Given the description of an element on the screen output the (x, y) to click on. 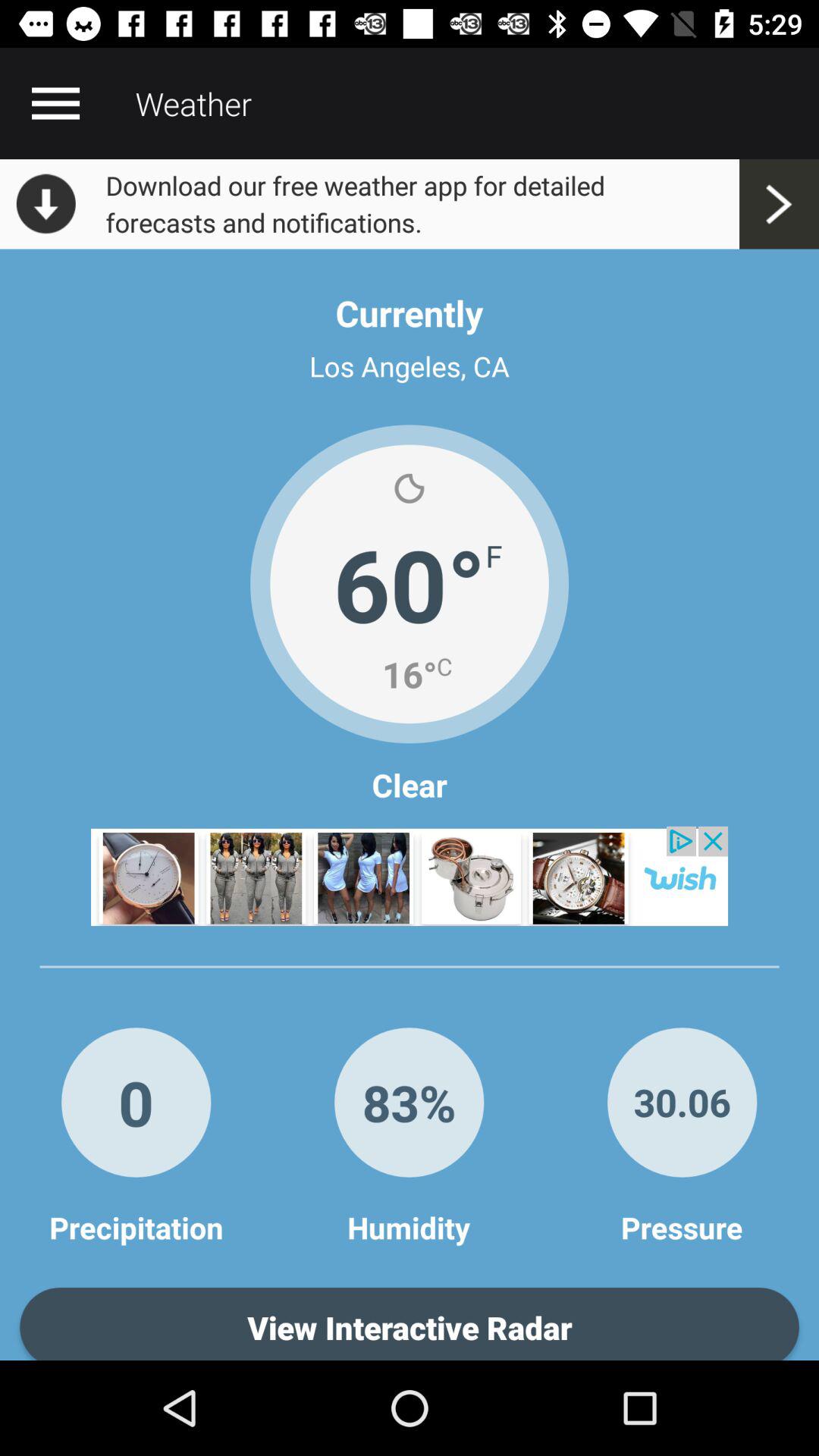
open menu (55, 103)
